Given the description of an element on the screen output the (x, y) to click on. 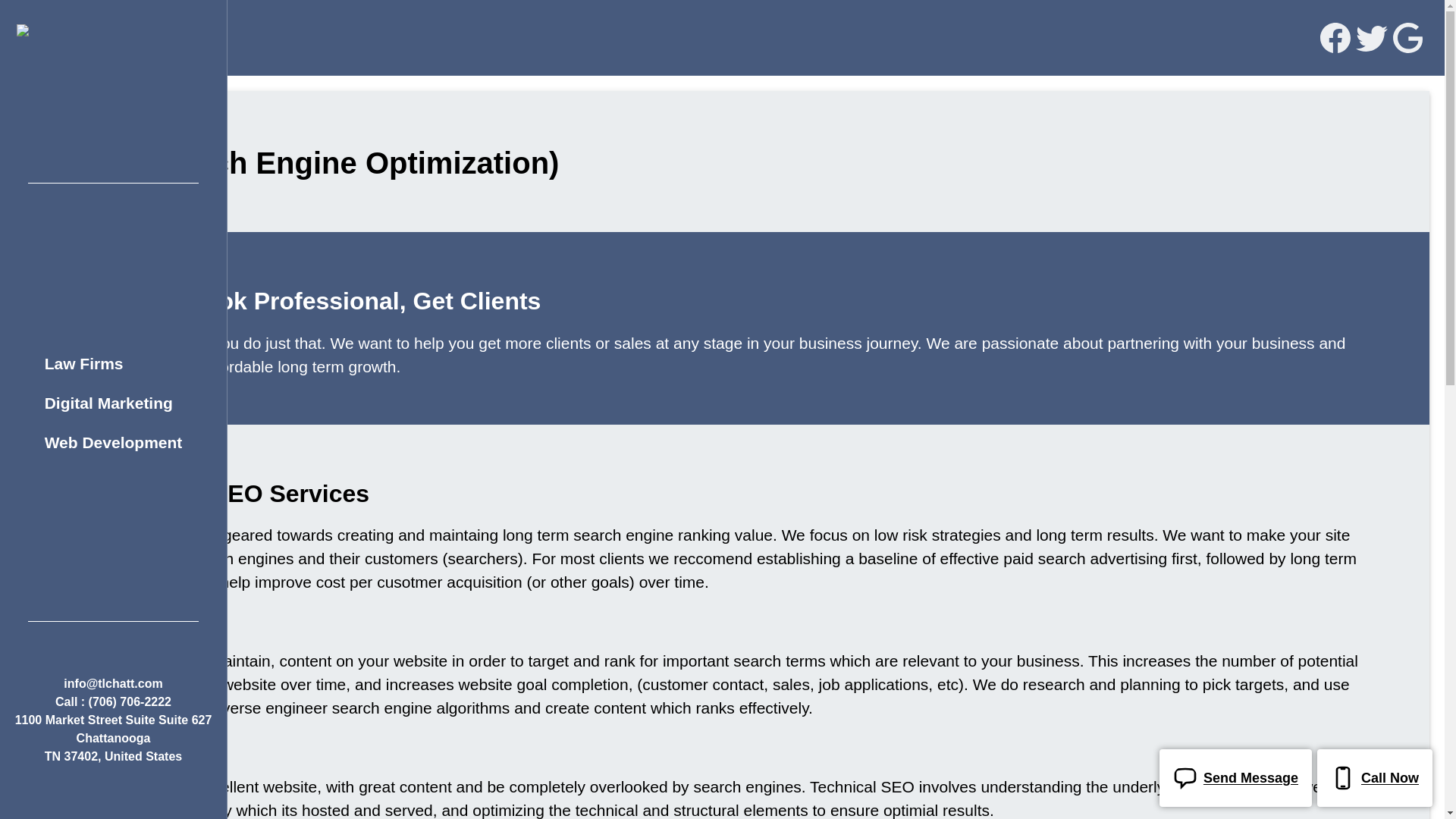
Web Development (113, 441)
TN 37402, United States (113, 756)
Send Message (1234, 777)
1100 Market Street Suite Suite 627 Chattanooga (113, 729)
Call Now (1374, 777)
Call Now (1368, 777)
Law Firms (83, 363)
Digital Marketing (108, 402)
